Given the description of an element on the screen output the (x, y) to click on. 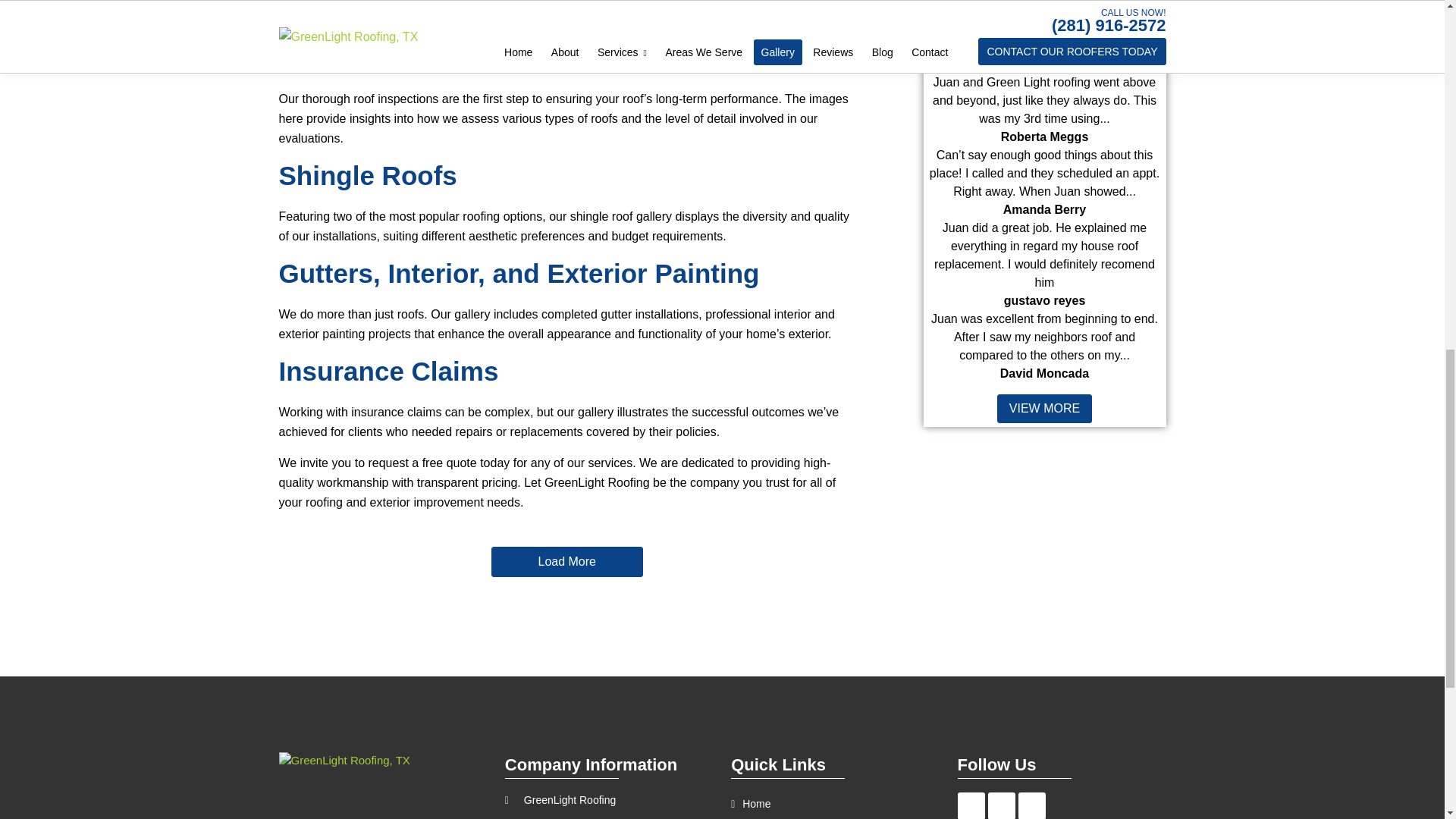
Areas We Serve (834, 817)
Load More (567, 562)
VIEW MORE (1044, 408)
Home (834, 803)
